Given the description of an element on the screen output the (x, y) to click on. 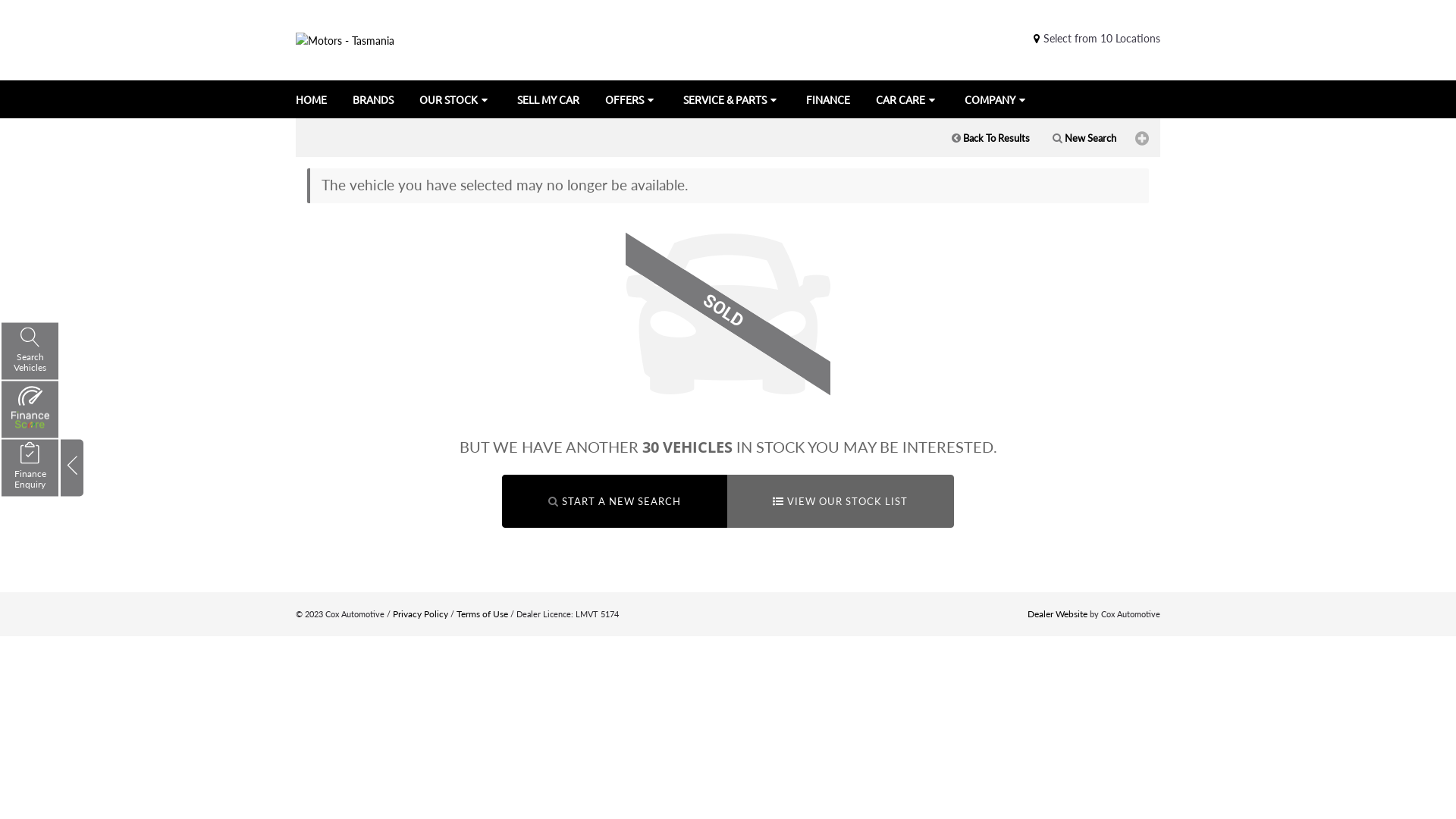
START A NEW SEARCH Element type: text (614, 501)
Select from 10 Locations Element type: text (1094, 37)
Search
Vehicles Element type: text (29, 351)
HOME Element type: text (309, 99)
VIEW OUR STOCK LIST Element type: text (839, 501)
FINANCE Element type: text (827, 99)
OFFERS Element type: text (631, 99)
SERVICE & PARTS Element type: text (731, 99)
Dealer Website Element type: text (1057, 613)
New Search Element type: text (1084, 137)
SELL MY CAR Element type: text (548, 99)
Finance
Enquiry Element type: text (29, 467)
OUR STOCK Element type: text (455, 99)
BRANDS Element type: text (372, 99)
CAR CARE Element type: text (906, 99)
COMPANY Element type: text (996, 99)
Back To Results Element type: text (990, 137)
Privacy Policy Element type: text (420, 613)
Terms of Use Element type: text (482, 613)
